Given the description of an element on the screen output the (x, y) to click on. 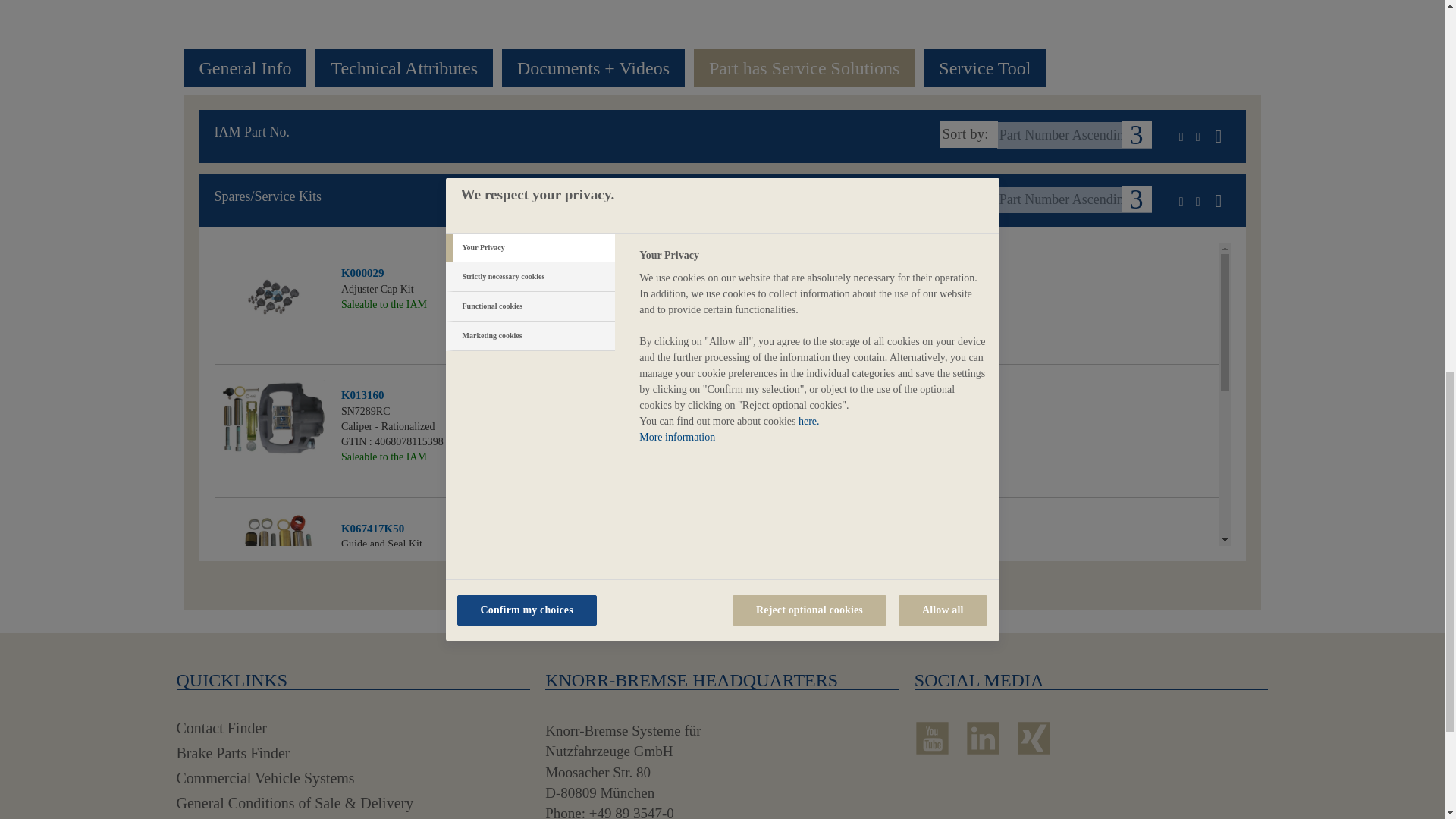
Caliper - Rationalized (274, 425)
Brake Carrier (273, 680)
Guide and Seal Kit (273, 558)
Contact Finder (221, 727)
Commercial Vehicle Systems (264, 777)
Tappets Kit (274, 788)
Brake Parts Finder (232, 752)
